Given the description of an element on the screen output the (x, y) to click on. 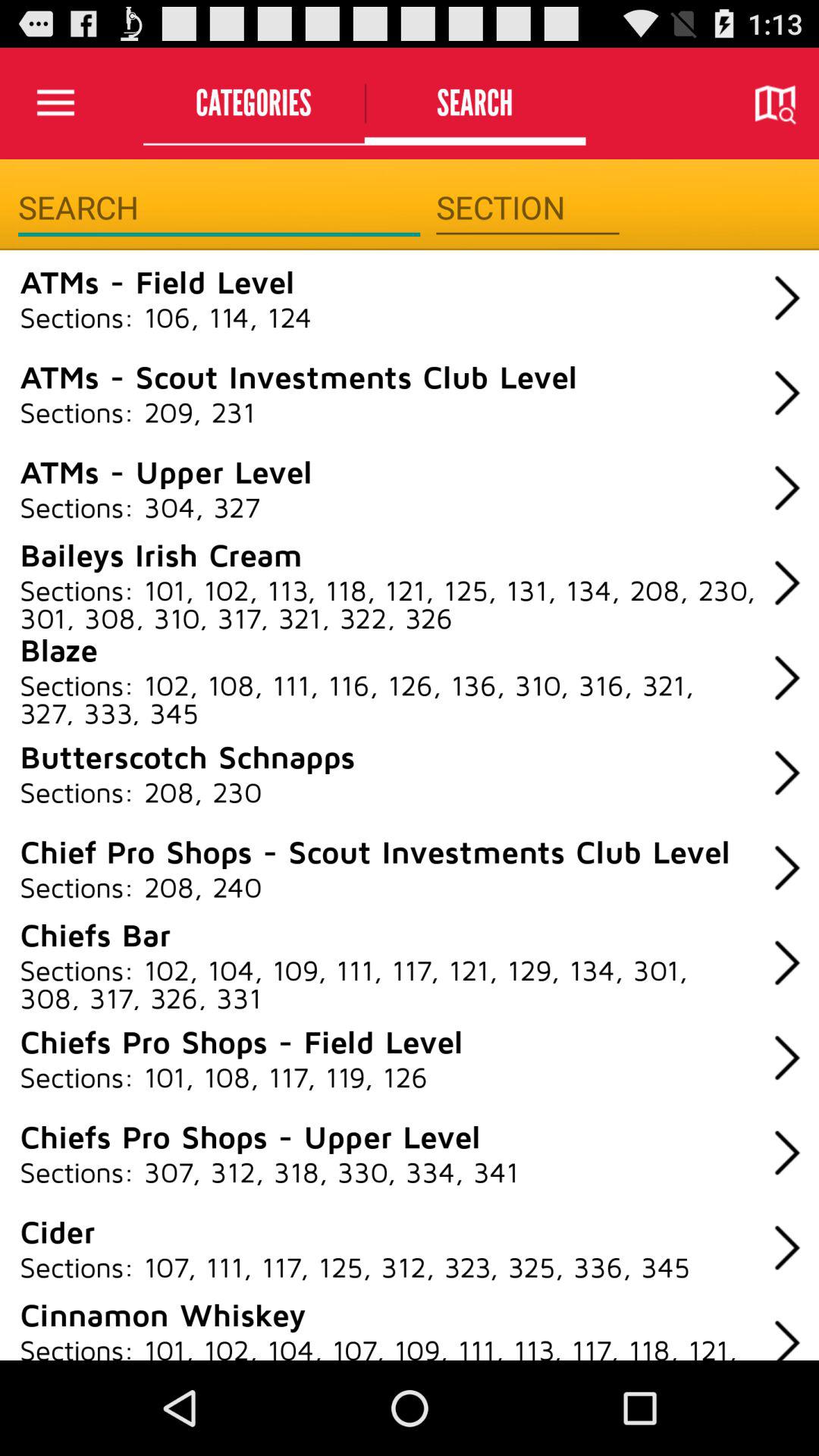
turn on icon next to categories (55, 103)
